Given the description of an element on the screen output the (x, y) to click on. 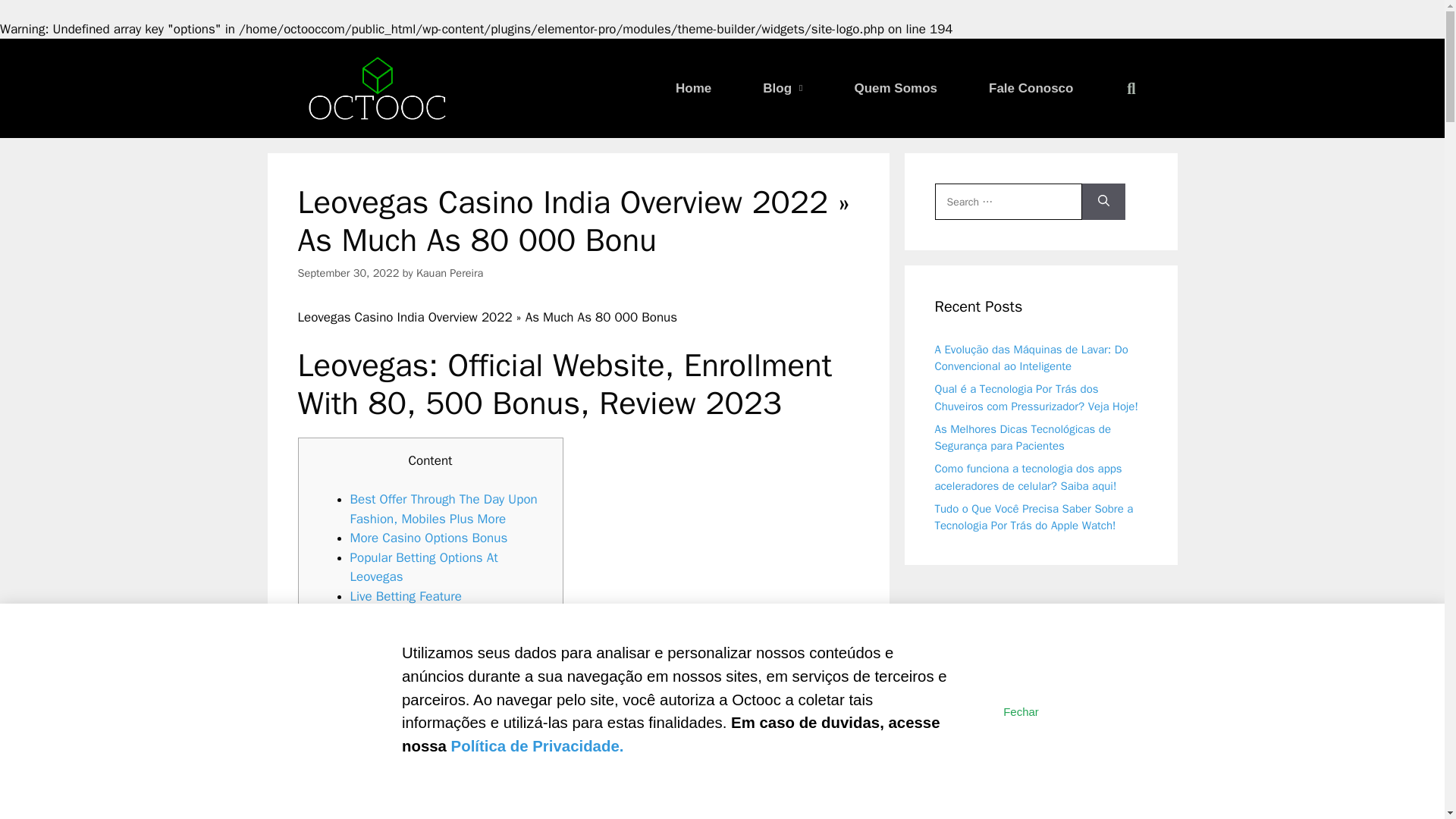
Home (692, 69)
Best Offer Through The Day Upon Fashion, Mobiles Plus More (443, 509)
Quem Somos (895, 81)
More Casino Options Bonus (429, 537)
Popular Betting Options At Leovegas (423, 567)
Kauan Pereira (449, 273)
Live Betting Feature (405, 596)
Search for: (1007, 201)
Review Of The Leovegas App Inside India 2023 (450, 624)
View all posts by Kauan Pereira (449, 273)
Blog (782, 70)
Fale Conosco (1030, 82)
